Given the description of an element on the screen output the (x, y) to click on. 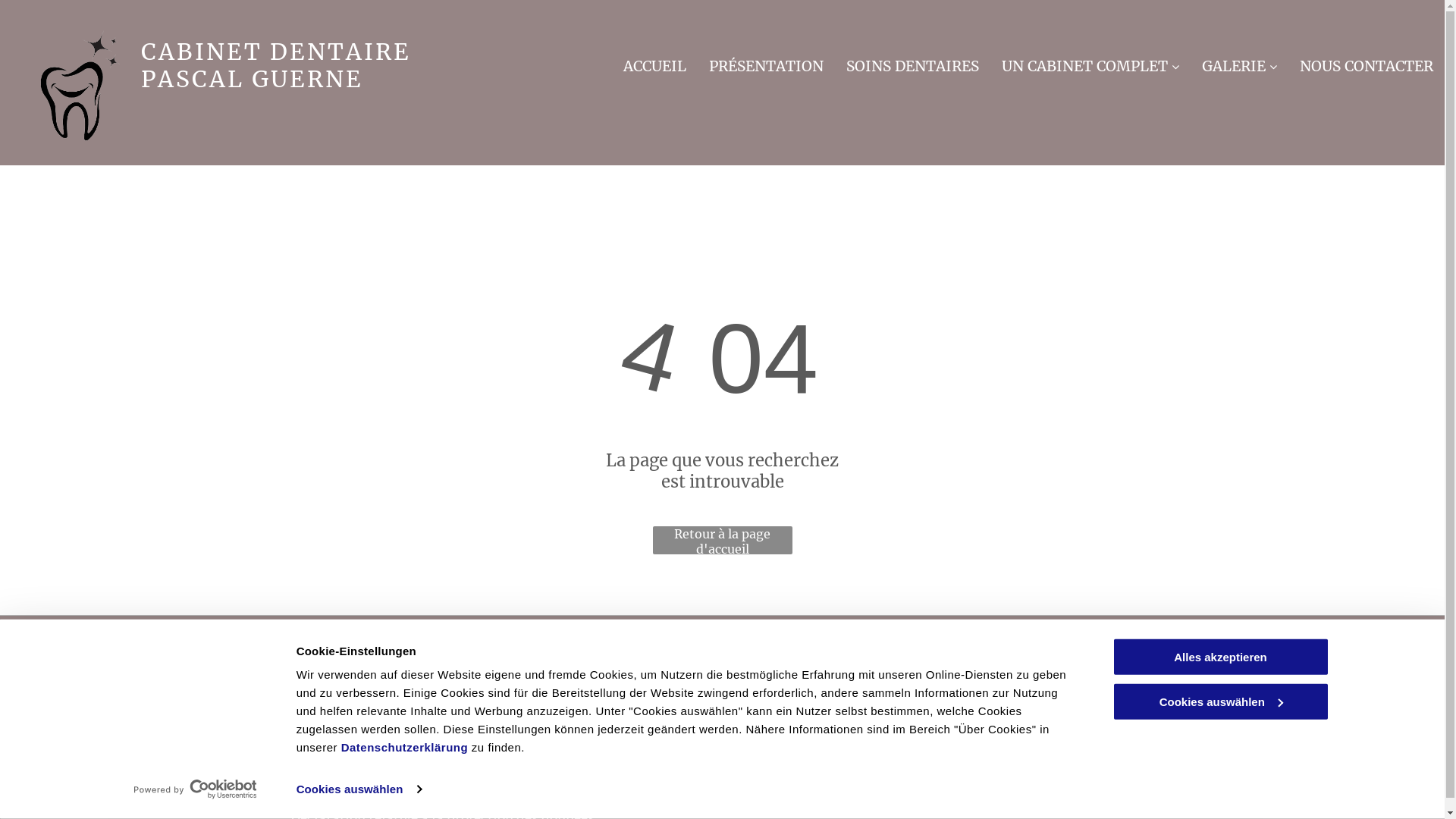
cabguerne@bluewin.ch Element type: text (574, 729)
+41 27 322 30 25 Element type: text (552, 678)
GALERIE Element type: text (1239, 64)
ACCUEIL Element type: text (654, 64)
Alles akzeptieren Element type: text (1219, 656)
NOUS CONTACTER Element type: text (1366, 64)
Prendre contact Element type: text (75, 754)
PASCAL GUERNE Element type: text (252, 78)
CABINET DENTAIRE Element type: text (276, 51)
UN CABINET COMPLET Element type: text (1090, 64)
SOINS DENTAIRES Element type: text (912, 64)
